Given the description of an element on the screen output the (x, y) to click on. 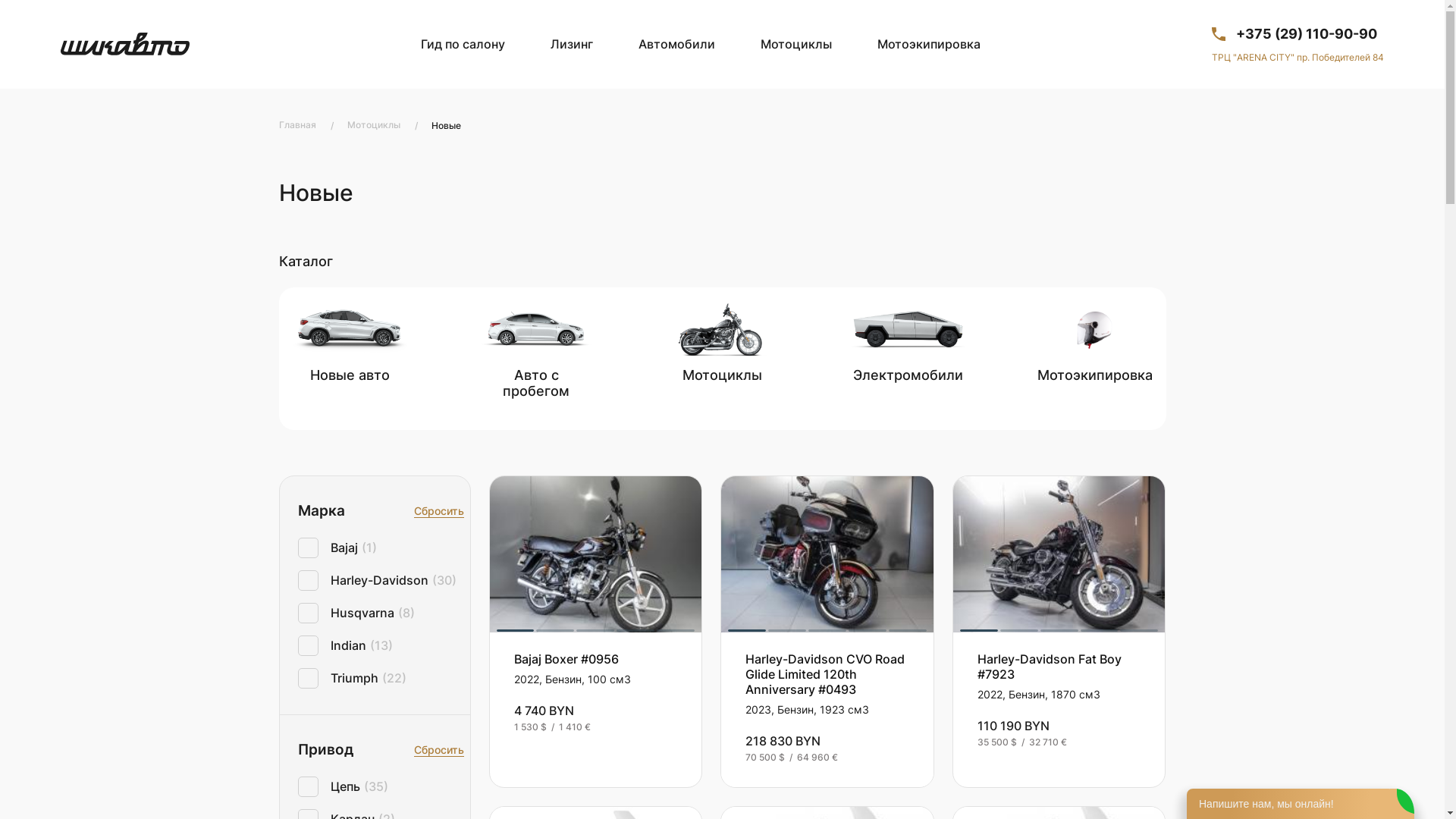
4 Element type: text (635, 630)
2 Element type: text (1019, 630)
1 Element type: text (978, 630)
3 Element type: text (827, 630)
4 Element type: text (1099, 630)
4 Element type: text (867, 630)
5 Element type: text (1138, 630)
1
2
3
4
5 Element type: text (827, 554)
1 Element type: text (746, 630)
Bajaj Boxer #0956 Element type: text (566, 658)
3 Element type: text (1059, 630)
+375 (29) 110-90-90 Element type: text (1297, 33)
2 Element type: text (787, 630)
3 Element type: text (595, 630)
1
2
3
4
5 Element type: text (596, 554)
Harley-Davidson Fat Boy #7923 Element type: text (1049, 666)
2 Element type: text (555, 630)
1 Element type: text (514, 630)
5 Element type: text (675, 630)
1
2
3
4
5 Element type: text (1059, 554)
5 Element type: text (907, 630)
